Given the description of an element on the screen output the (x, y) to click on. 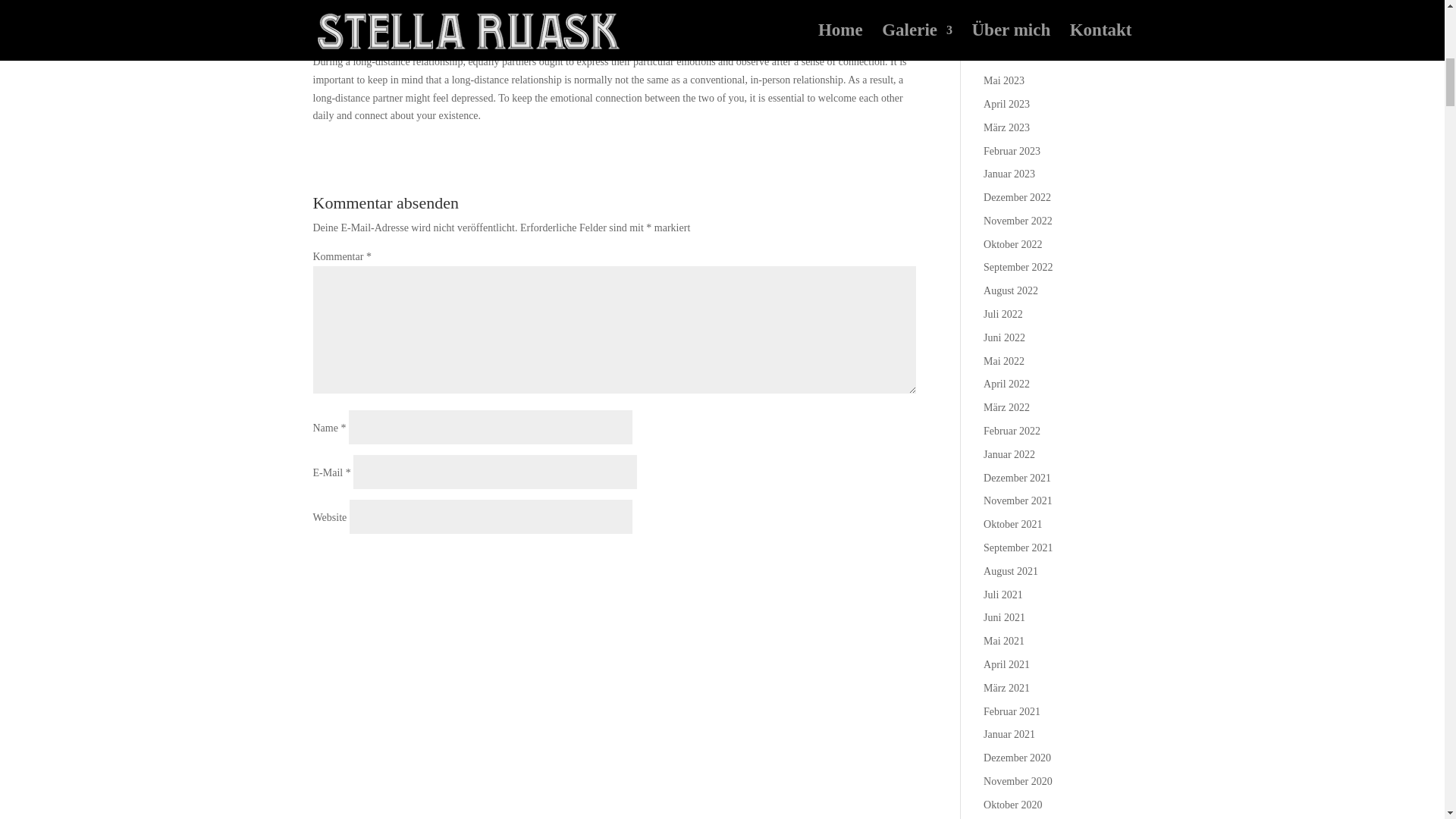
Januar 2023 (1009, 173)
Kommentar absenden (832, 563)
April 2023 (1006, 103)
Kommentar absenden (832, 563)
Juli 2023 (1003, 34)
Juni 2023 (1004, 57)
Februar 2023 (1012, 151)
August 2023 (1011, 10)
Mai 2023 (1004, 80)
